Given the description of an element on the screen output the (x, y) to click on. 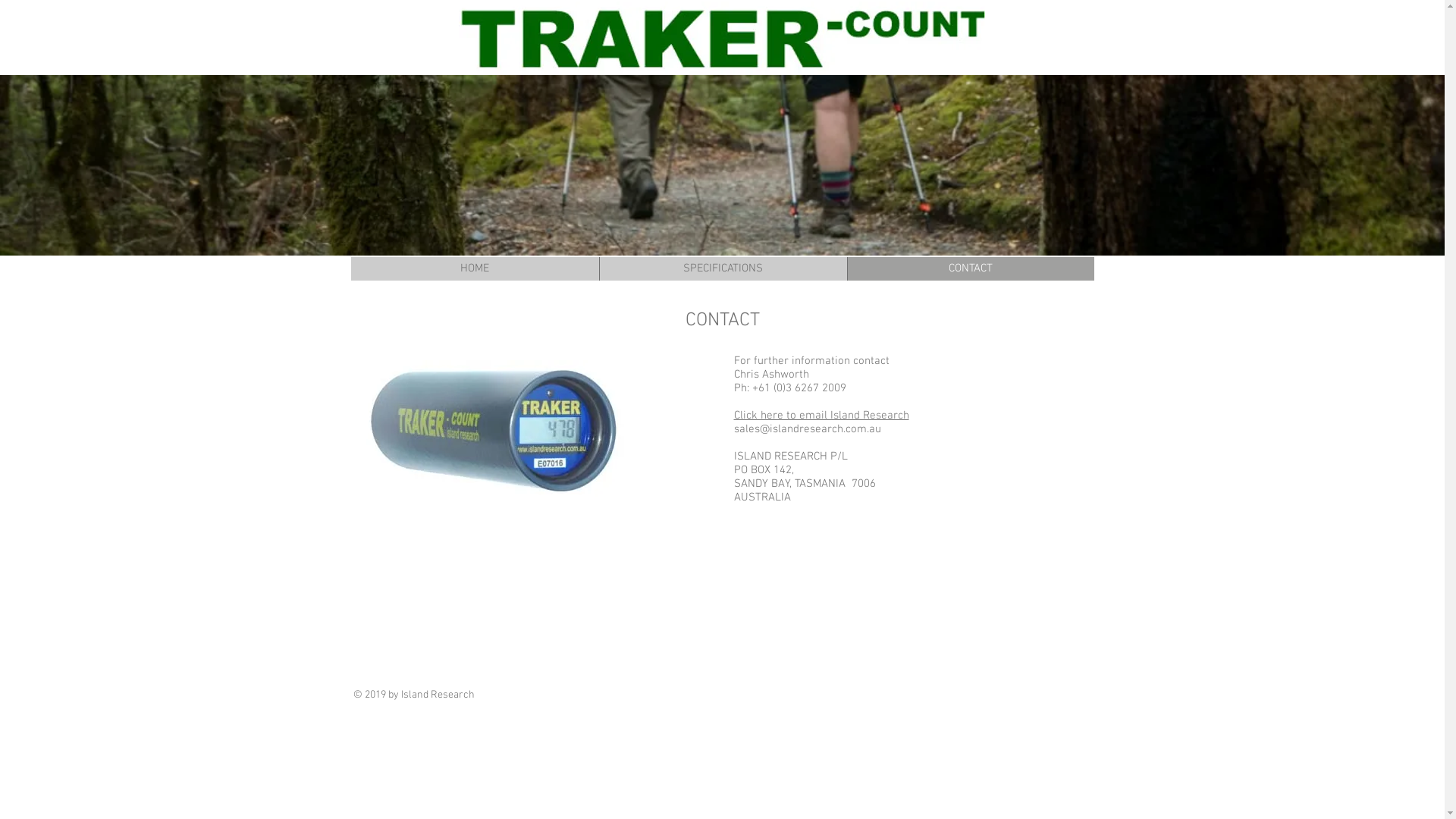
Click here to email Island Research Element type: text (821, 415)
CONTACT Element type: text (969, 268)
SPECIFICATIONS Element type: text (723, 268)
HOME Element type: text (474, 268)
sales@islandresearch.com.au Element type: text (807, 429)
